Given the description of an element on the screen output the (x, y) to click on. 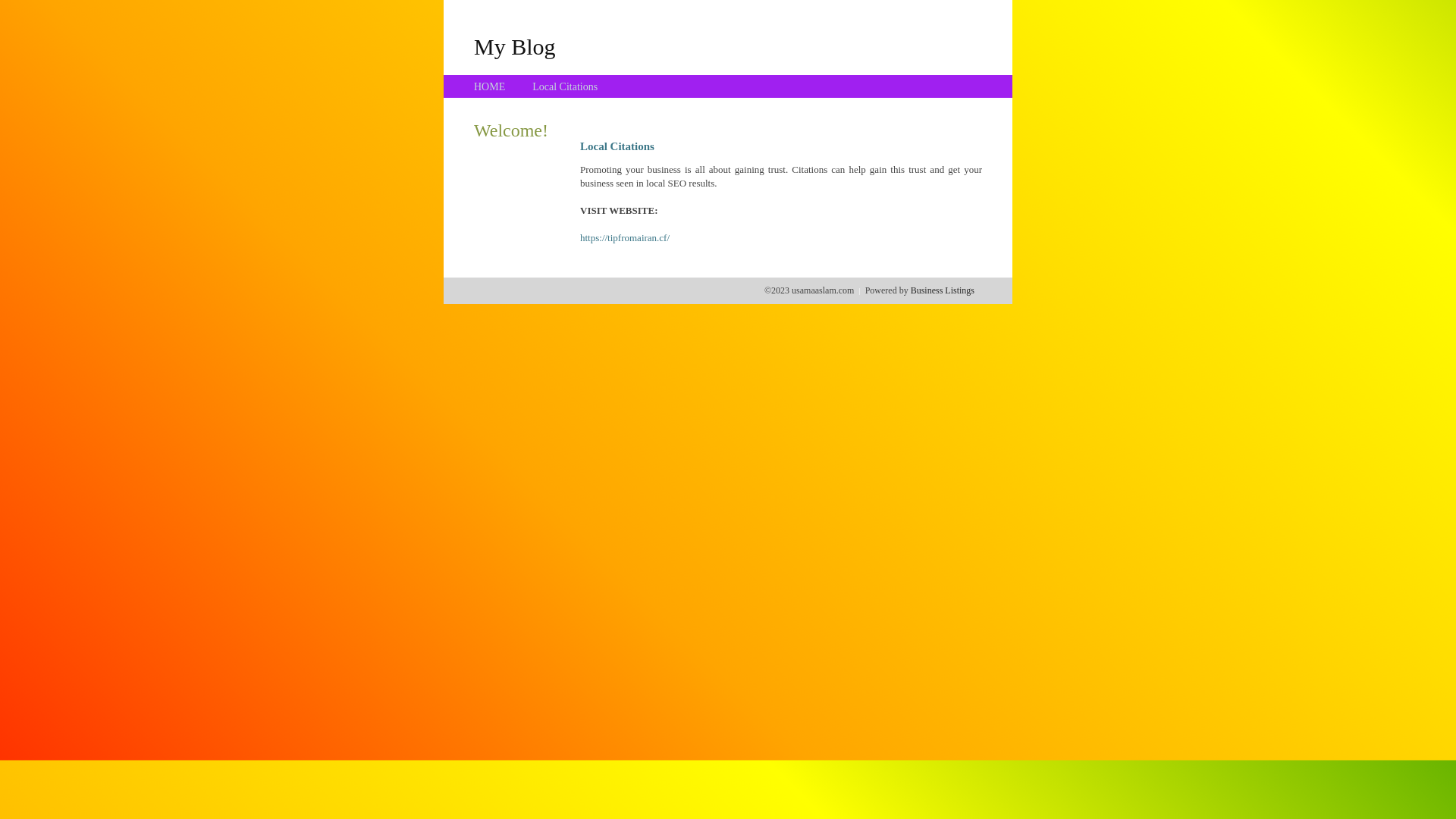
HOME Element type: text (489, 86)
Local Citations Element type: text (564, 86)
https://tipfromairan.cf/ Element type: text (624, 237)
Business Listings Element type: text (942, 290)
My Blog Element type: text (514, 46)
